Given the description of an element on the screen output the (x, y) to click on. 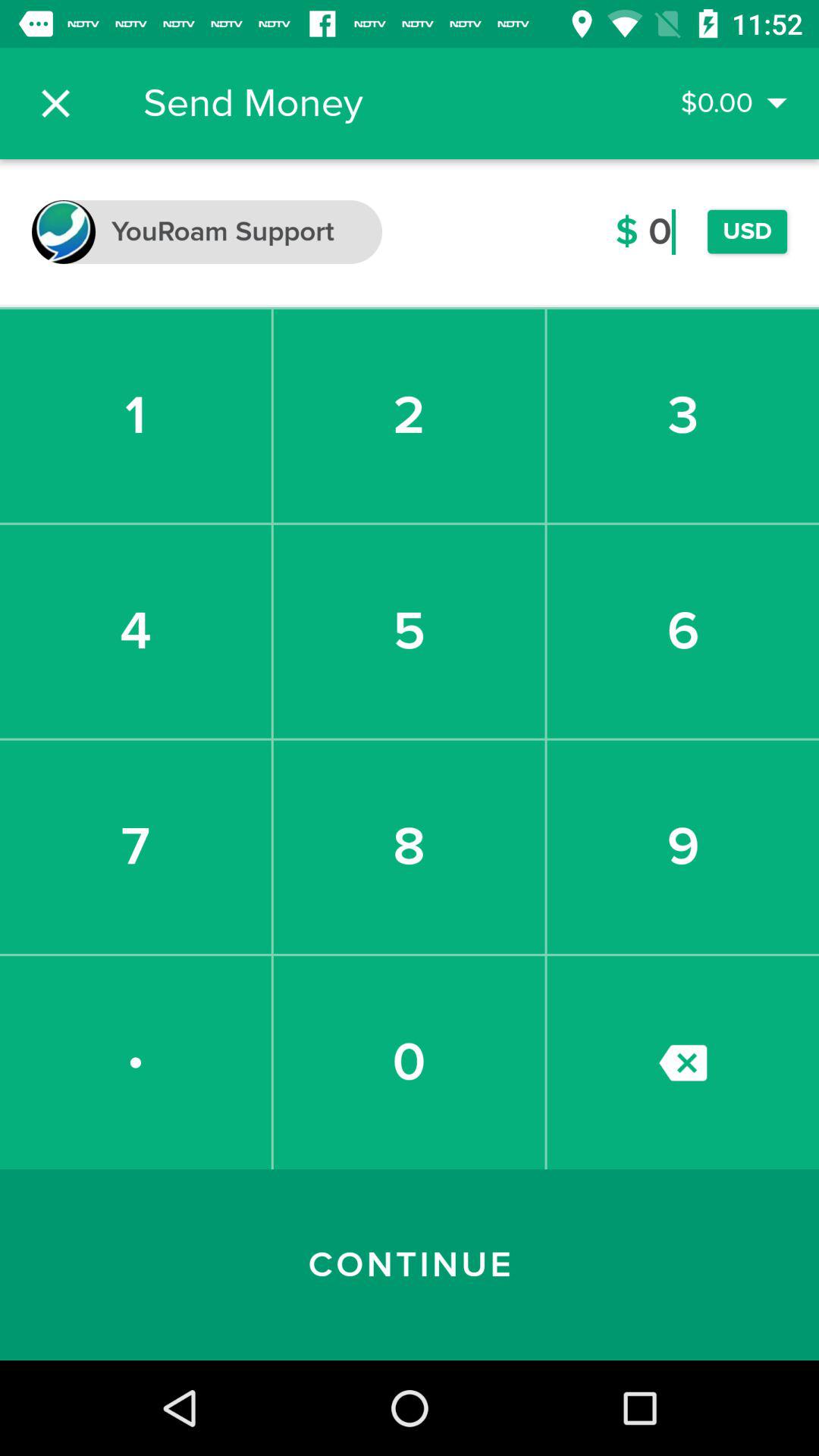
choose the icon to the left of the send money (55, 103)
